Given the description of an element on the screen output the (x, y) to click on. 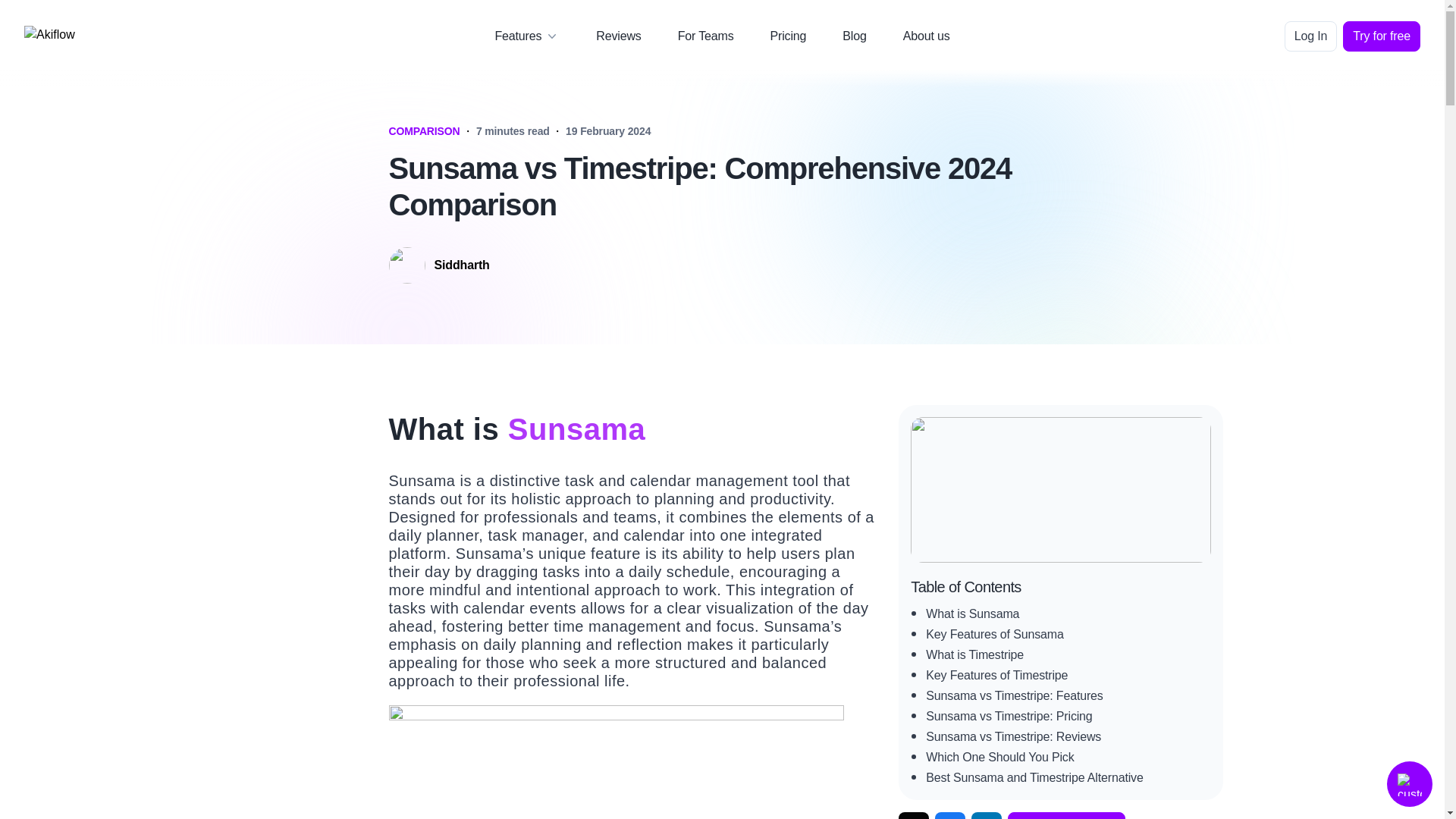
Blog (854, 35)
Akiflow (91, 36)
Sunsama vs Timestripe: Pricing (1009, 716)
What is Timestripe (974, 654)
For Teams (705, 35)
Features (527, 35)
Log In (1311, 36)
Features (518, 35)
Which One Should You Pick (1000, 757)
About us (926, 35)
